Given the description of an element on the screen output the (x, y) to click on. 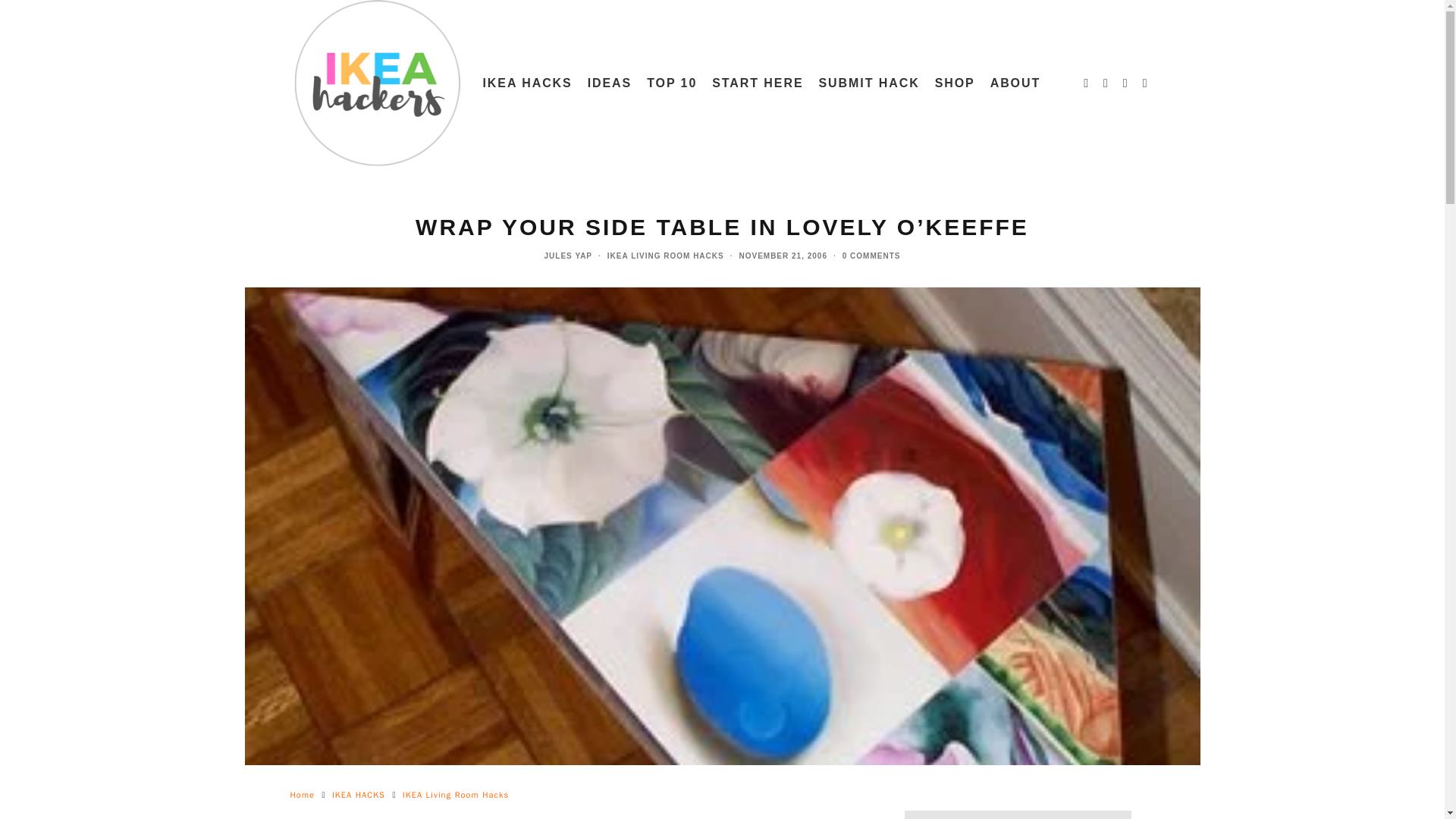
How to send in your hack (868, 83)
IKEA Hacks by Categories (526, 83)
JULES YAP (568, 255)
IKEA Ideas by Categories (609, 83)
TOP 10 (671, 83)
IKEA HACKS (526, 83)
Hack of the Year (671, 83)
IKEA Living Room Hacks (455, 794)
0 COMMENTS (872, 255)
Home (301, 794)
SUBMIT HACK (868, 83)
SHOP (954, 83)
More about IKEA Hackers (1015, 83)
IKEA LIVING ROOM HACKS (665, 255)
